Given the description of an element on the screen output the (x, y) to click on. 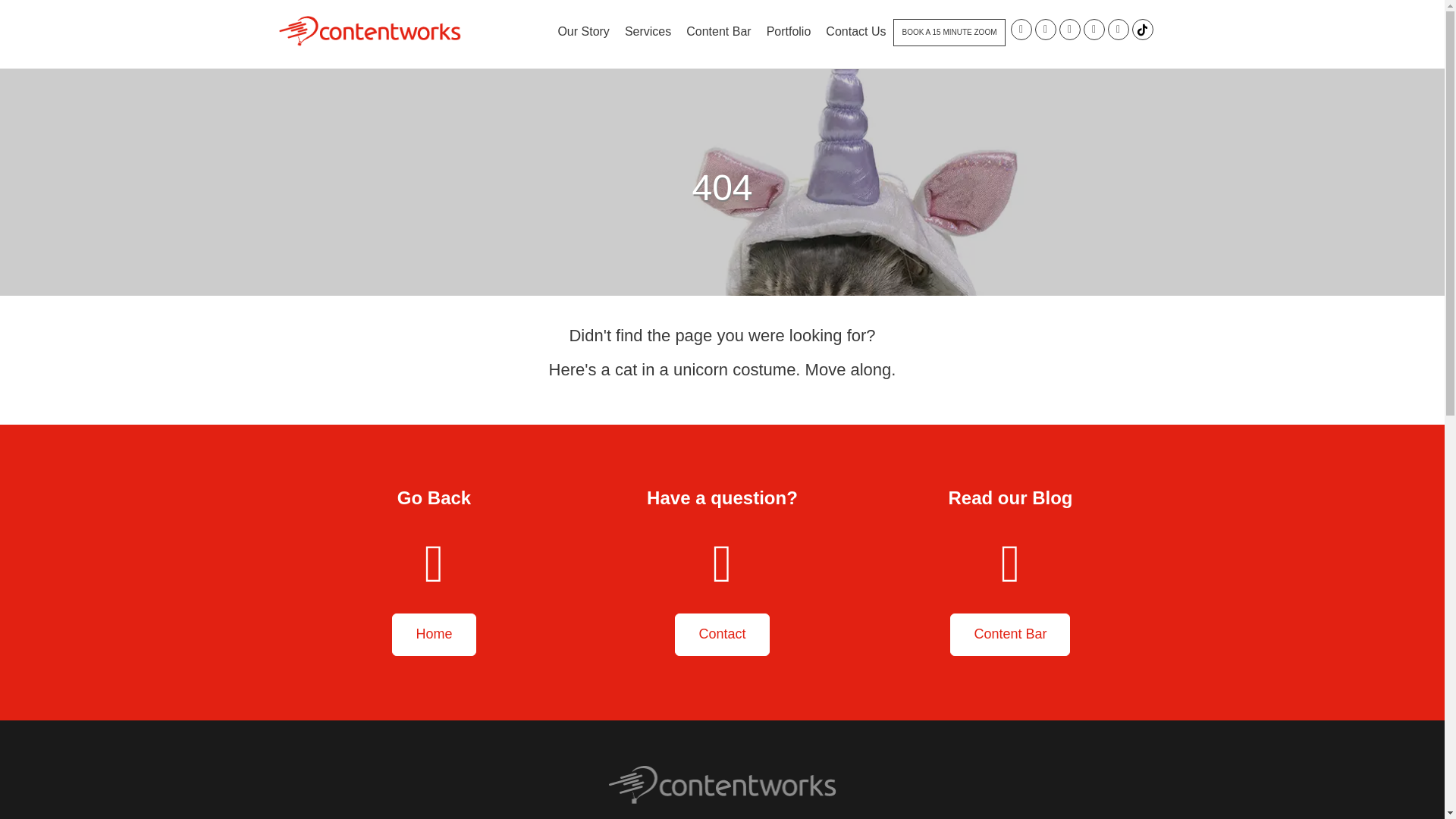
BOOK A 15 MINUTE ZOOM (948, 31)
Contact Us (855, 31)
Services (647, 31)
Portfolio (788, 31)
Our Story (582, 31)
Contact (721, 634)
Contact Us (855, 31)
Book A 15 Minute Zoom (948, 31)
Our Story (582, 31)
Portfolio (788, 31)
Content Bar (718, 31)
Services (647, 31)
Content Bar (718, 31)
Content Bar (1010, 634)
Services (647, 31)
